Given the description of an element on the screen output the (x, y) to click on. 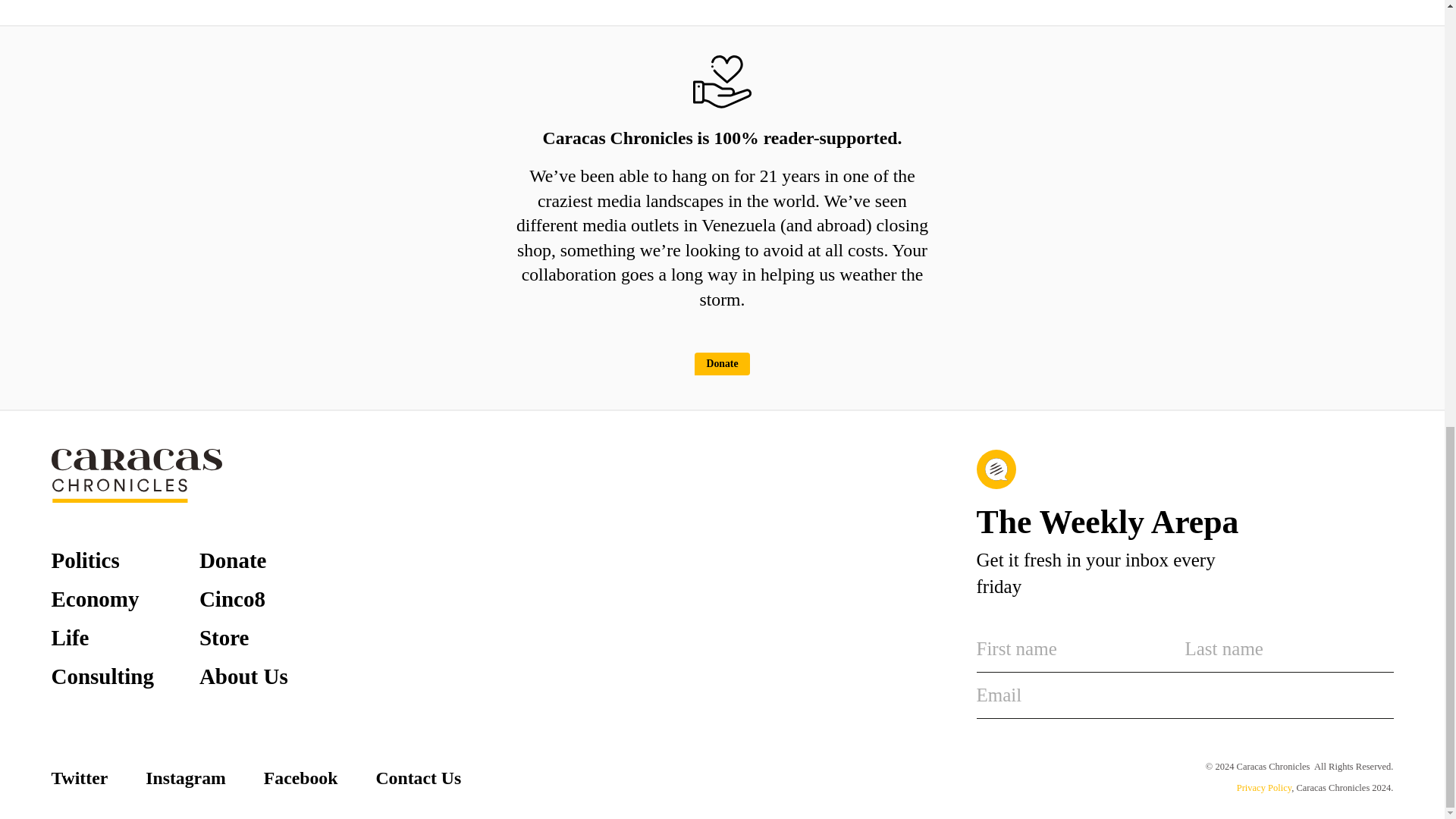
About Us (243, 676)
Cinco8 (231, 599)
Politics (84, 560)
Donate (232, 560)
Life (69, 638)
Donate (721, 363)
Consulting (102, 676)
Store (223, 638)
Economy (94, 599)
